Given the description of an element on the screen output the (x, y) to click on. 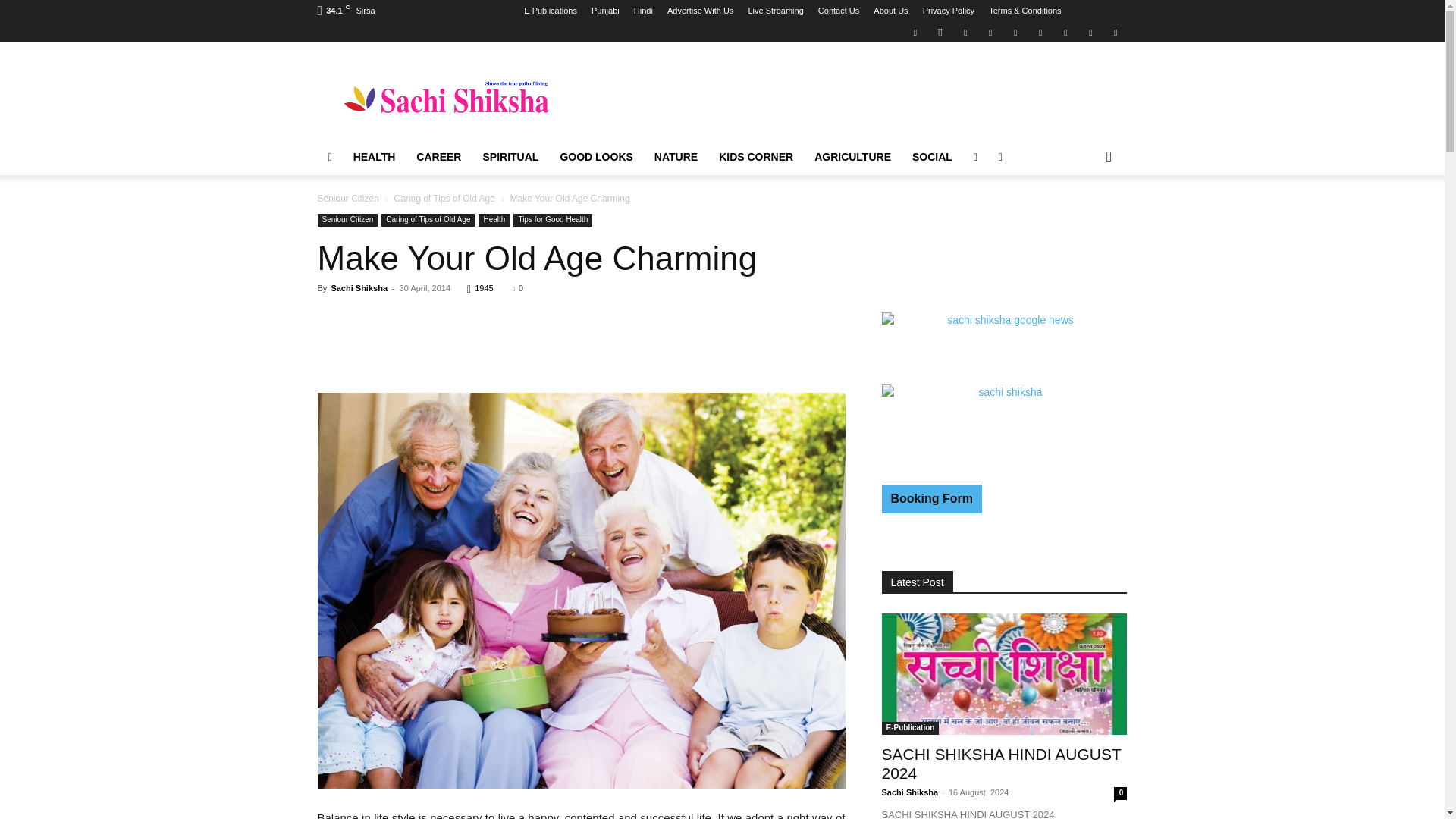
Instagram (940, 31)
Facebook (915, 31)
Linkedin (964, 31)
